Given the description of an element on the screen output the (x, y) to click on. 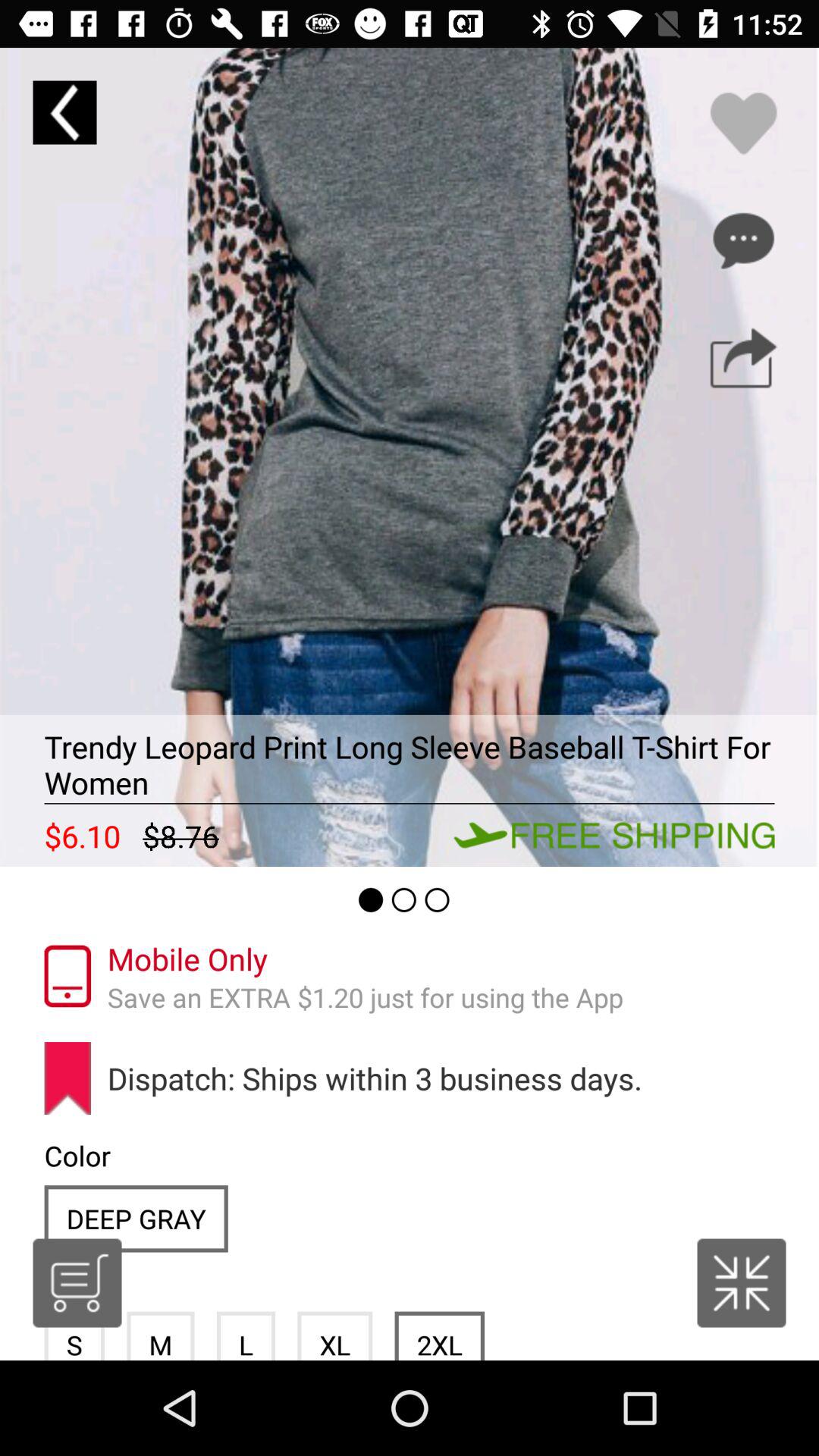
mark as favorite (743, 122)
